Given the description of an element on the screen output the (x, y) to click on. 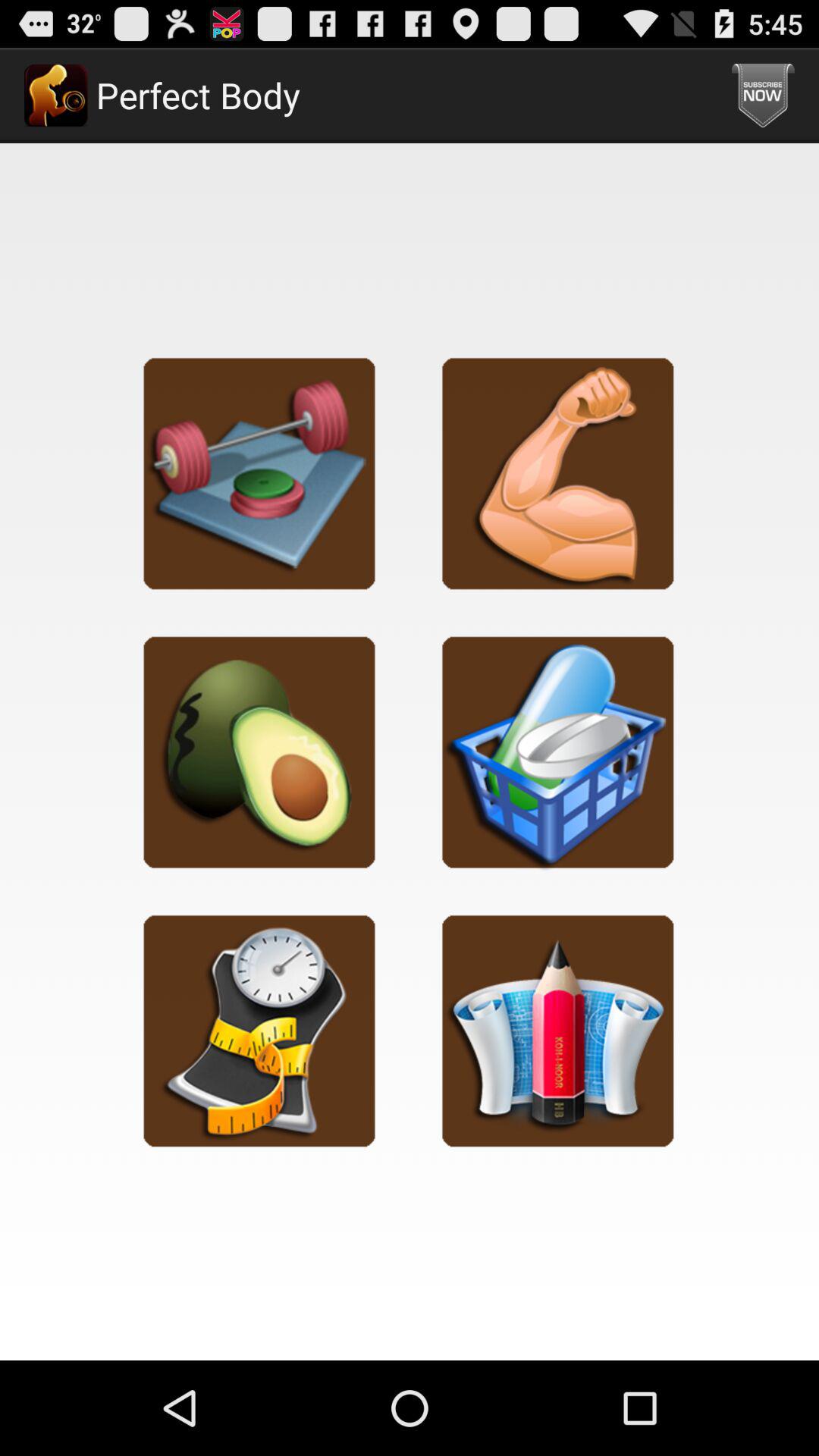
select exercise (259, 472)
